Given the description of an element on the screen output the (x, y) to click on. 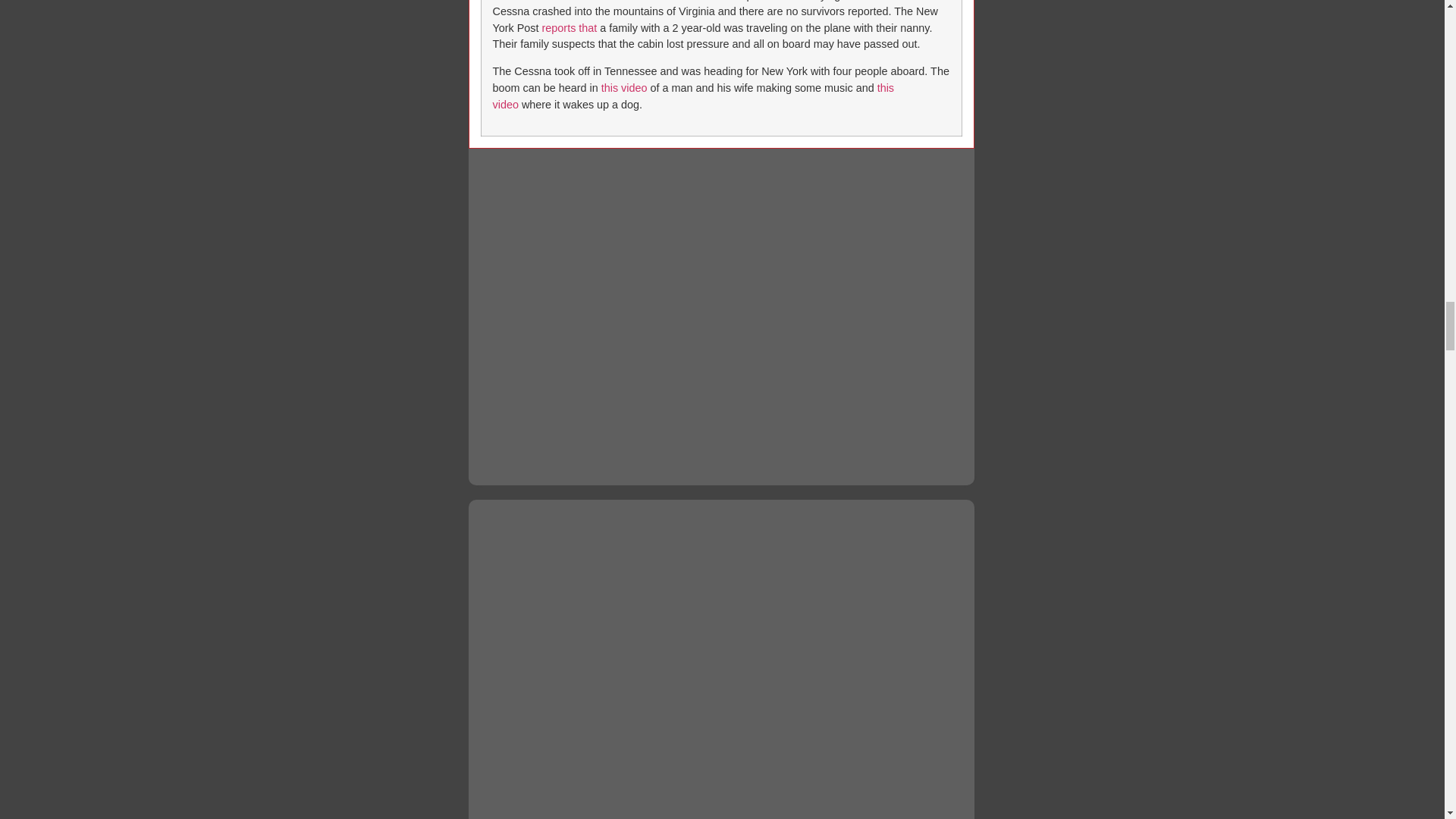
this video (694, 95)
reports that (568, 28)
this video (624, 87)
